Given the description of an element on the screen output the (x, y) to click on. 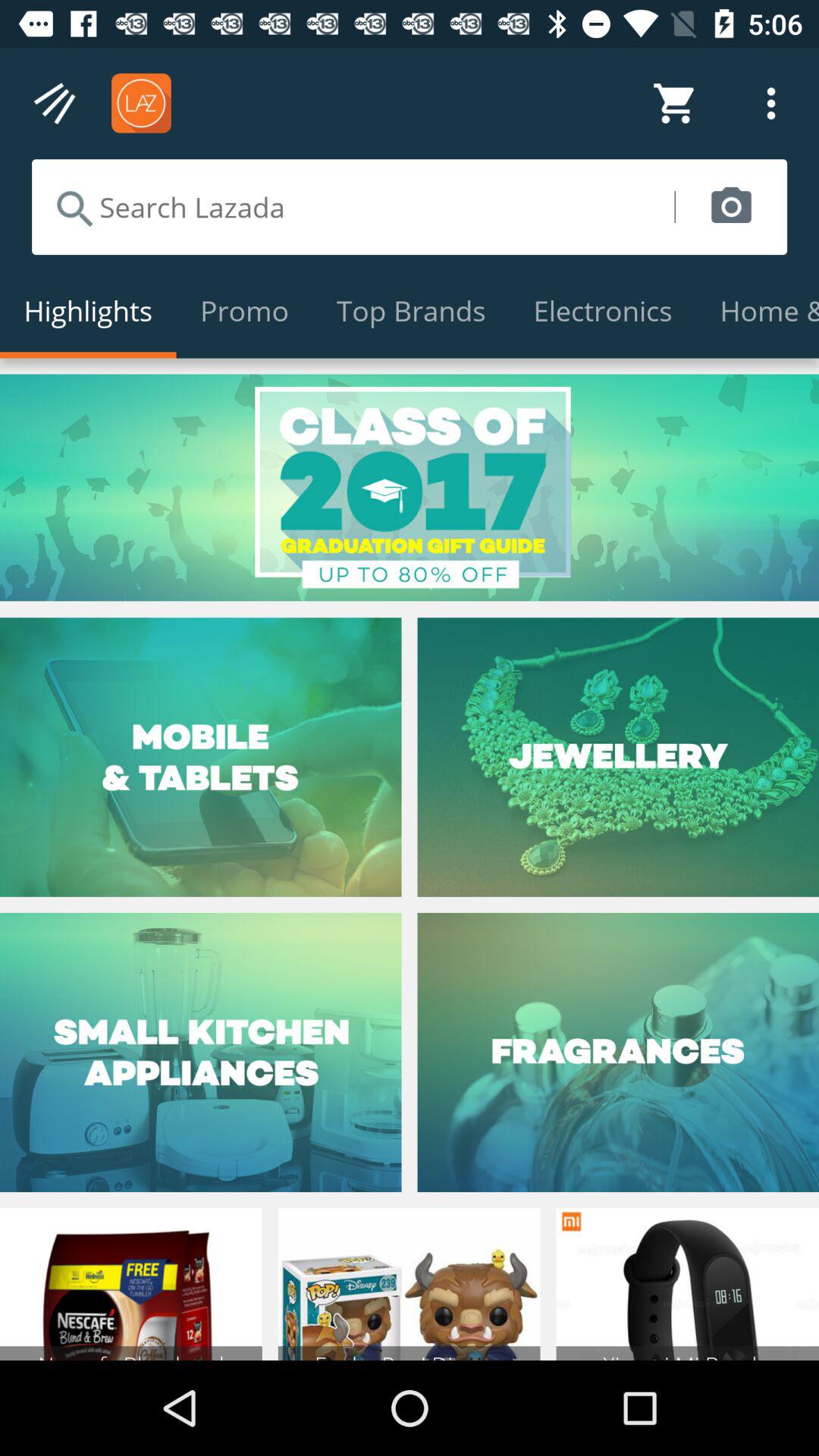
goto the second box below the jewellery box (618, 1052)
choose the bottom middle image of page (409, 1283)
click on right corner image from bottom (687, 1283)
